Given the description of an element on the screen output the (x, y) to click on. 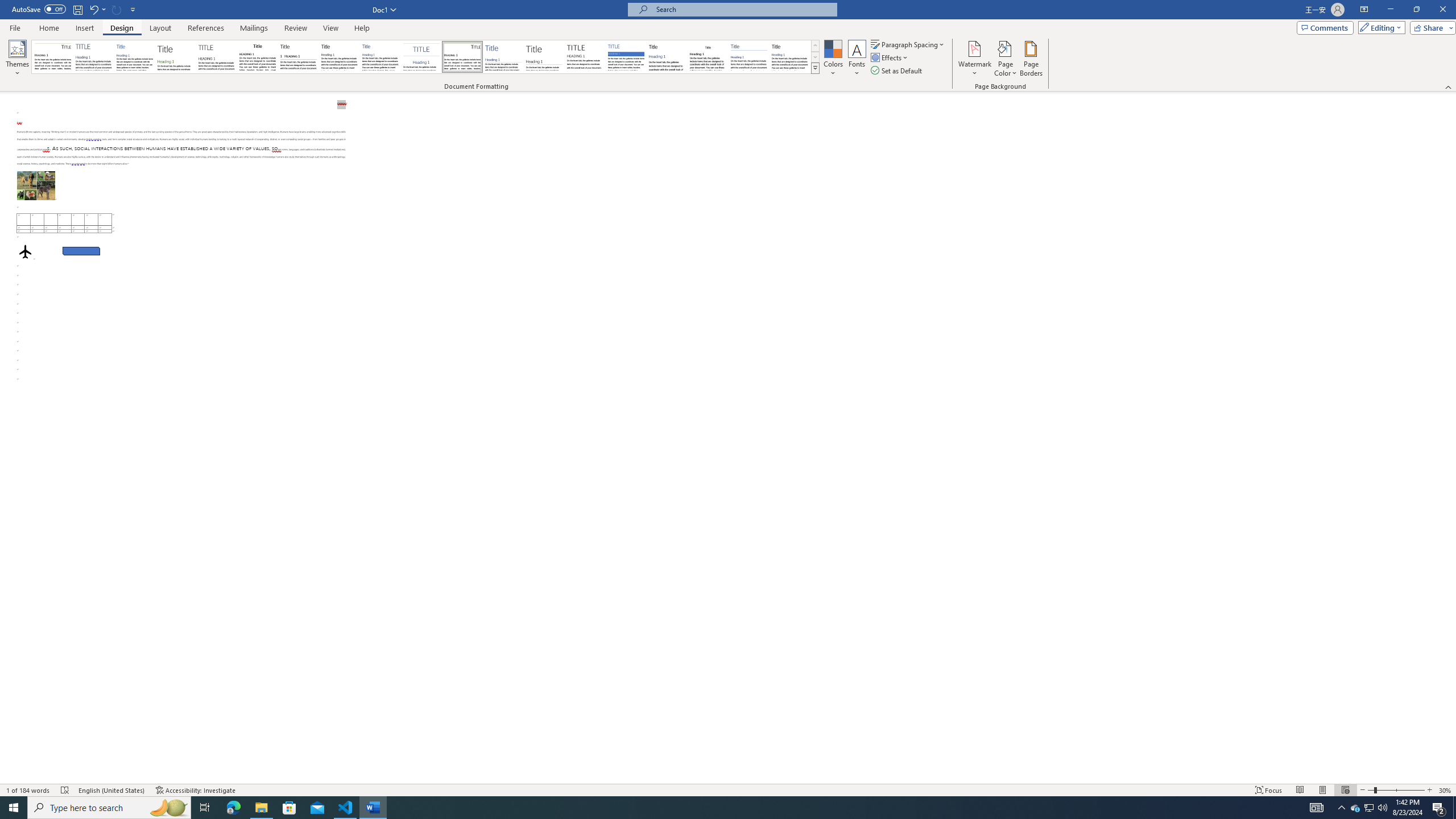
Colors (832, 58)
Style Set (814, 67)
Undo Apply Quick Style Set (92, 9)
Page Borders... (1031, 58)
Spelling and Grammar Check Errors (65, 790)
Class: MsoCommandBar (728, 45)
